Given the description of an element on the screen output the (x, y) to click on. 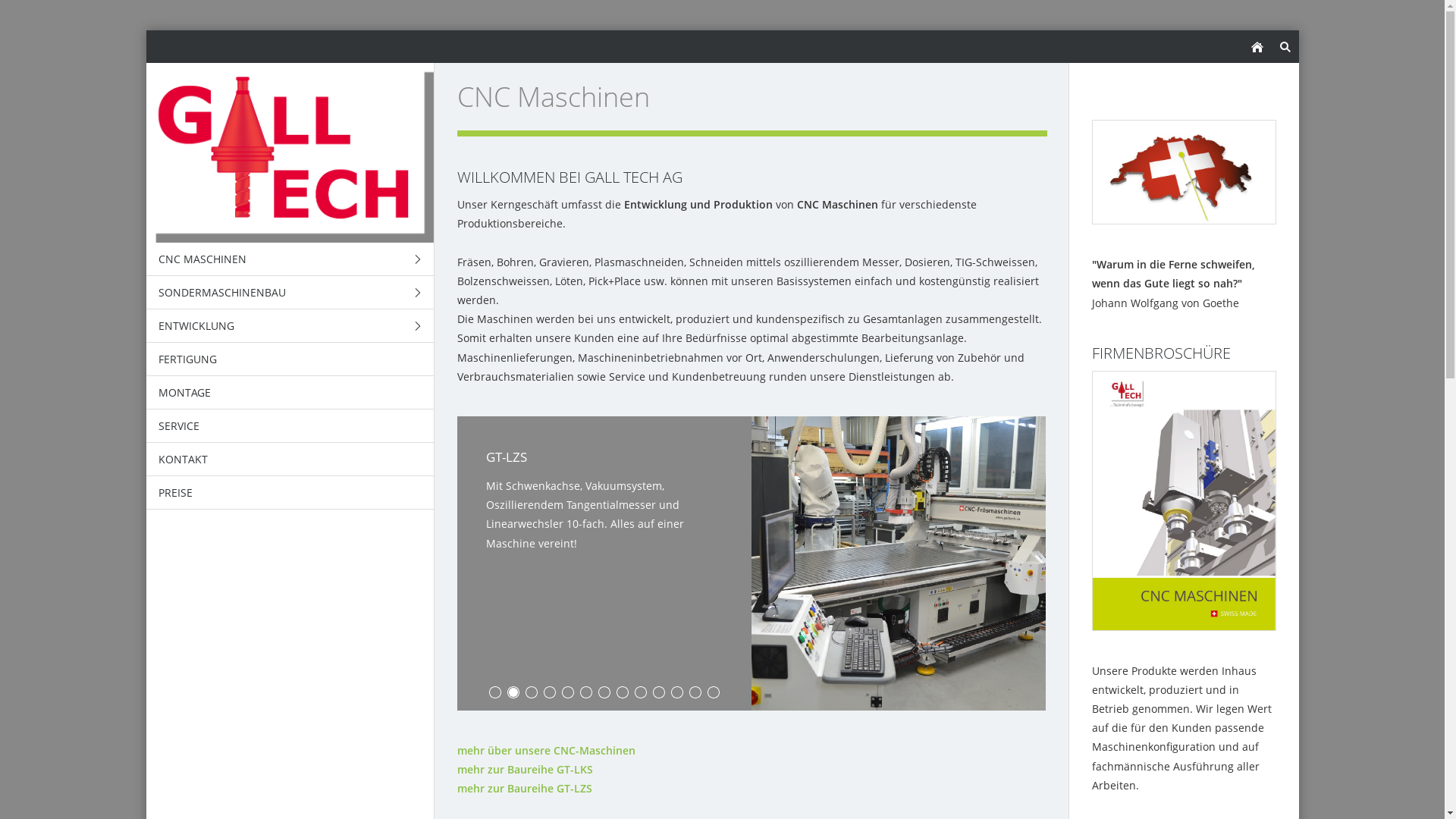
CNC MASCHINEN Element type: text (289, 259)
SERVICE Element type: text (289, 425)
MONTAGE Element type: text (289, 392)
KONTAKT Element type: text (289, 459)
SONDERMASCHINENBAU Element type: text (289, 292)
mehr zur Baureihe GT-LZS Element type: text (523, 788)
PREISE Element type: text (289, 492)
FERTIGUNG Element type: text (289, 359)
ENTWICKLUNG Element type: text (289, 325)
mehr zur Baureihe GT-LKS Element type: text (524, 769)
